Given the description of an element on the screen output the (x, y) to click on. 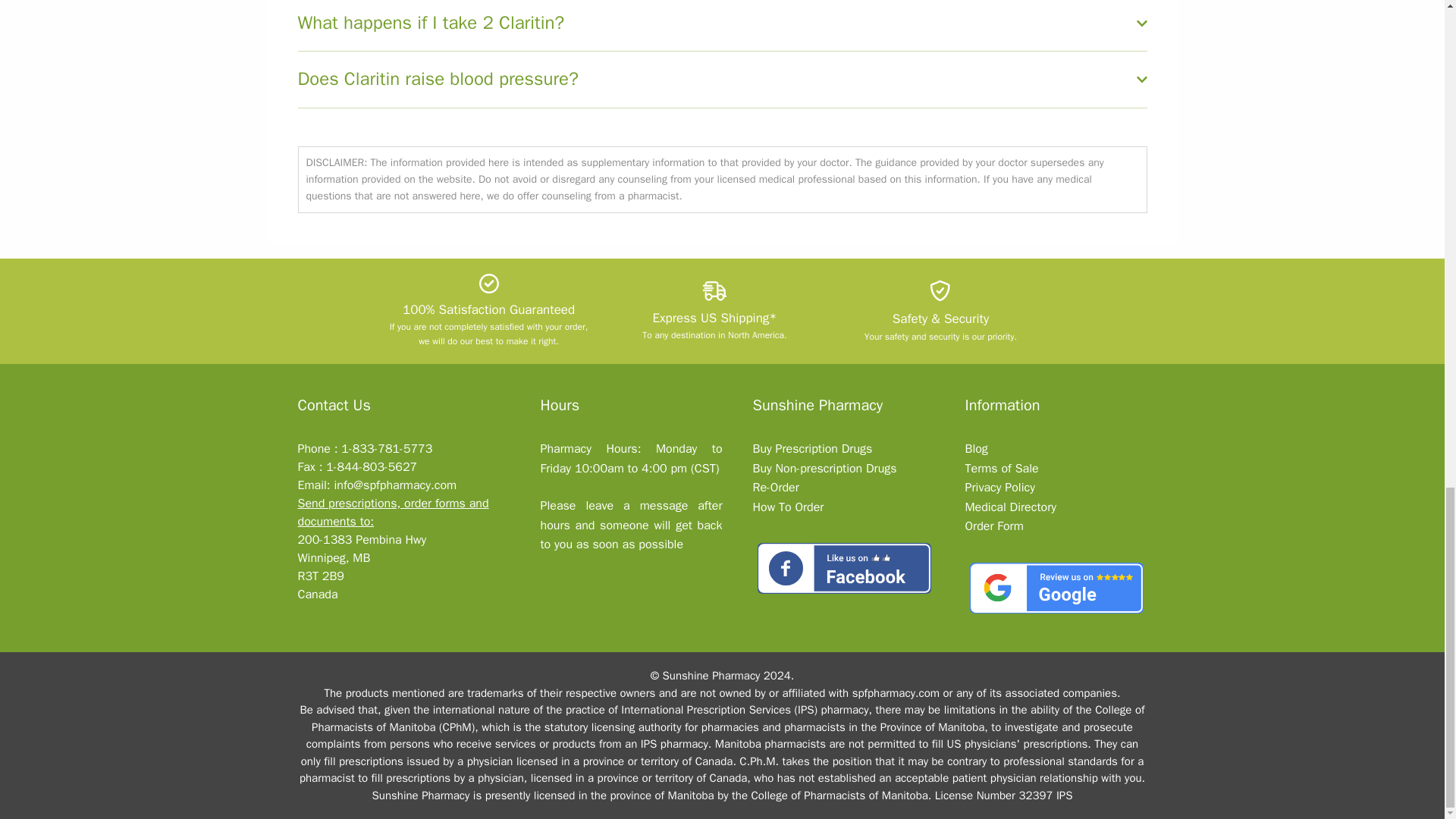
1-833-781-5773 (386, 448)
Scroll back to top (26, 333)
Buy Non-prescription Drugs (824, 468)
How To Order (788, 507)
Buy Prescription Drugs (812, 448)
Re-Order (774, 487)
